Given the description of an element on the screen output the (x, y) to click on. 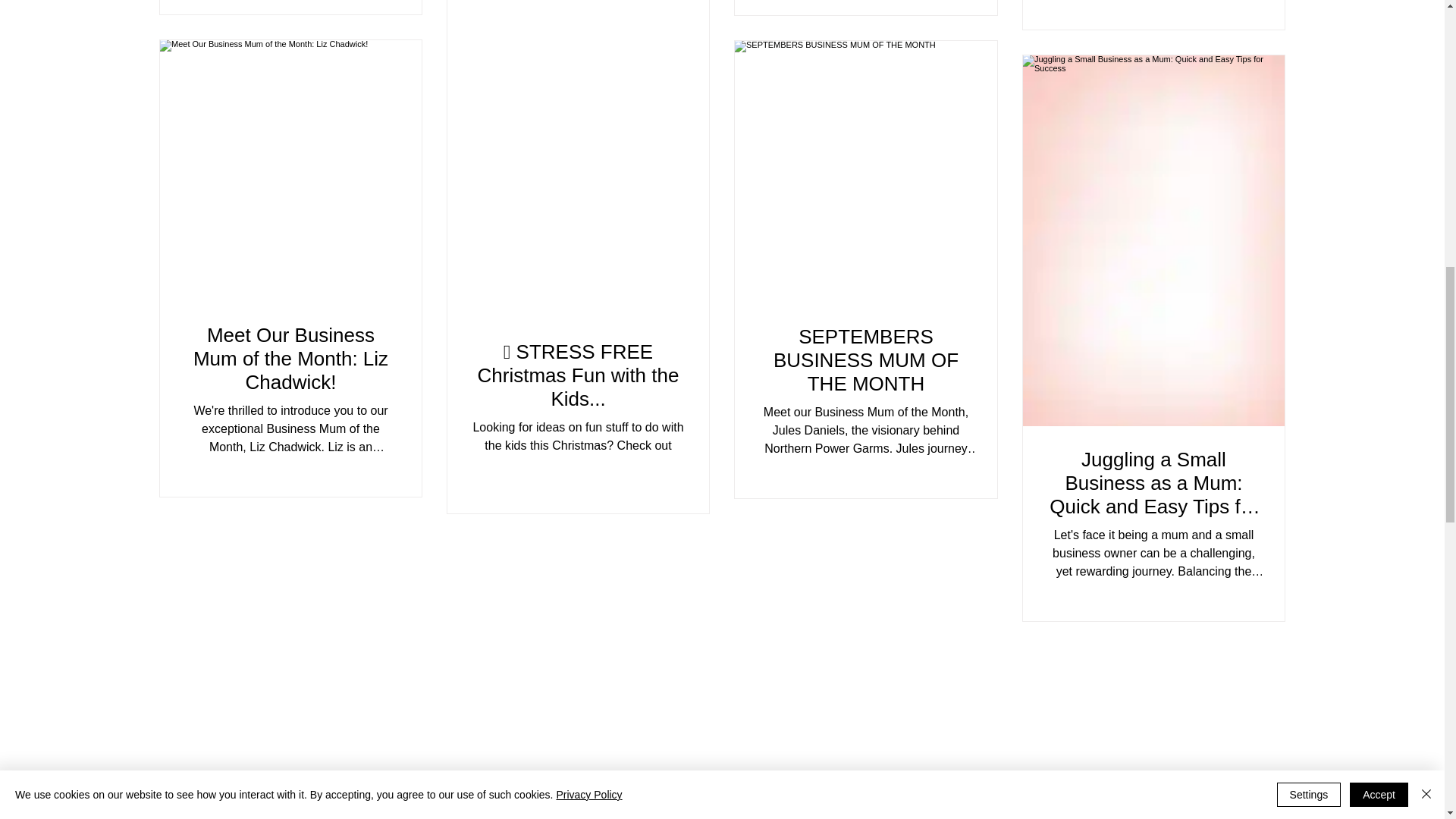
Meet Our Business Mum of the Month: Liz Chadwick! (290, 358)
SEPTEMBERS BUSINESS MUM OF THE MONTH (865, 360)
